Given the description of an element on the screen output the (x, y) to click on. 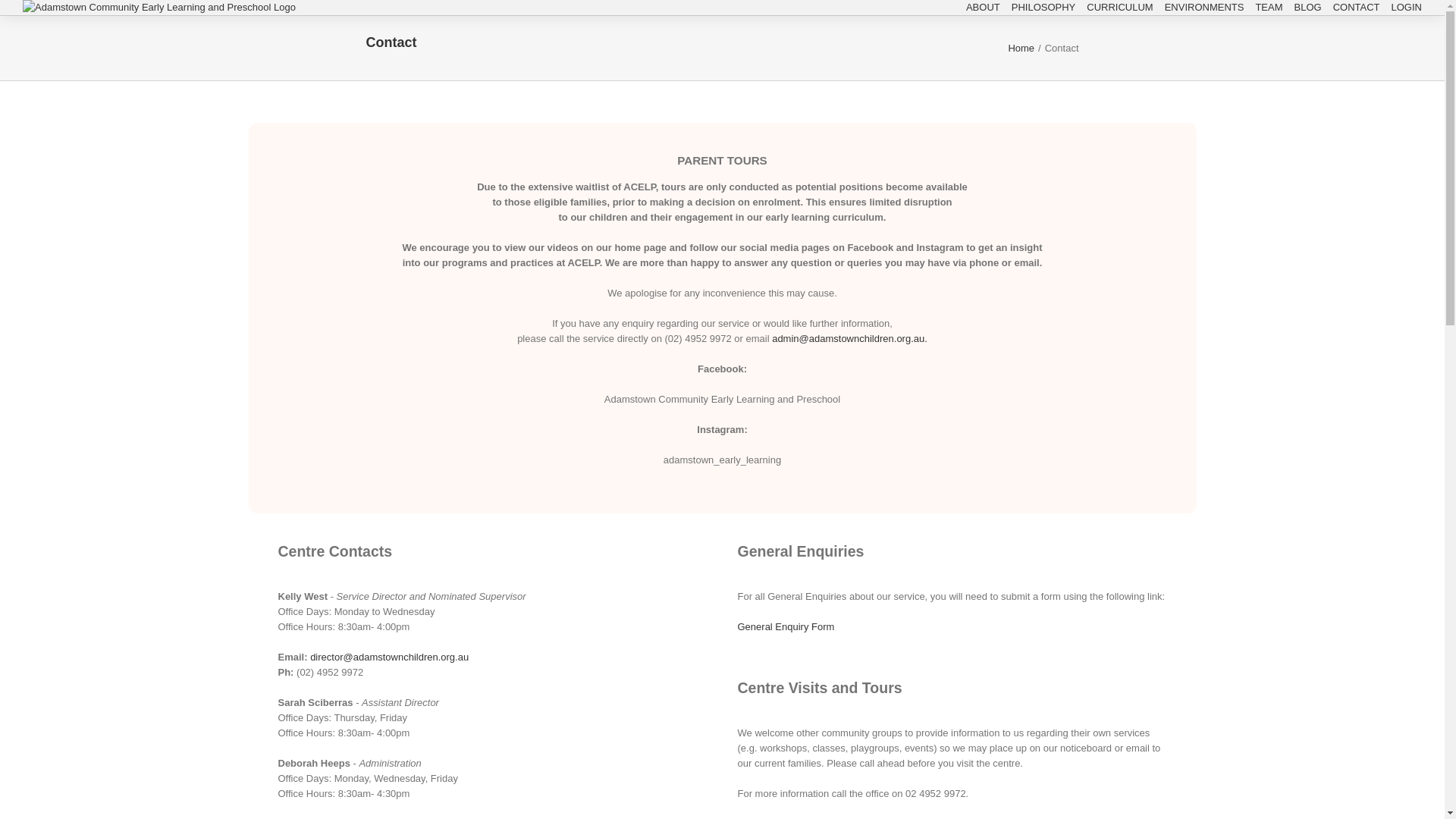
General Enquiry Form Element type: text (785, 626)
admin@adamstownchildren.org.au. Element type: text (849, 338)
CONTACT Element type: text (1356, 7)
BLOG Element type: text (1307, 7)
ENVIRONMENTS Element type: text (1204, 7)
PHILOSOPHY Element type: text (1043, 7)
CURRICULUM Element type: text (1119, 7)
ABOUT Element type: text (983, 7)
Home Element type: text (1020, 47)
director@adamstownchildren.org.au Element type: text (389, 656)
LOGIN Element type: text (1406, 7)
TEAM Element type: text (1268, 7)
